Given the description of an element on the screen output the (x, y) to click on. 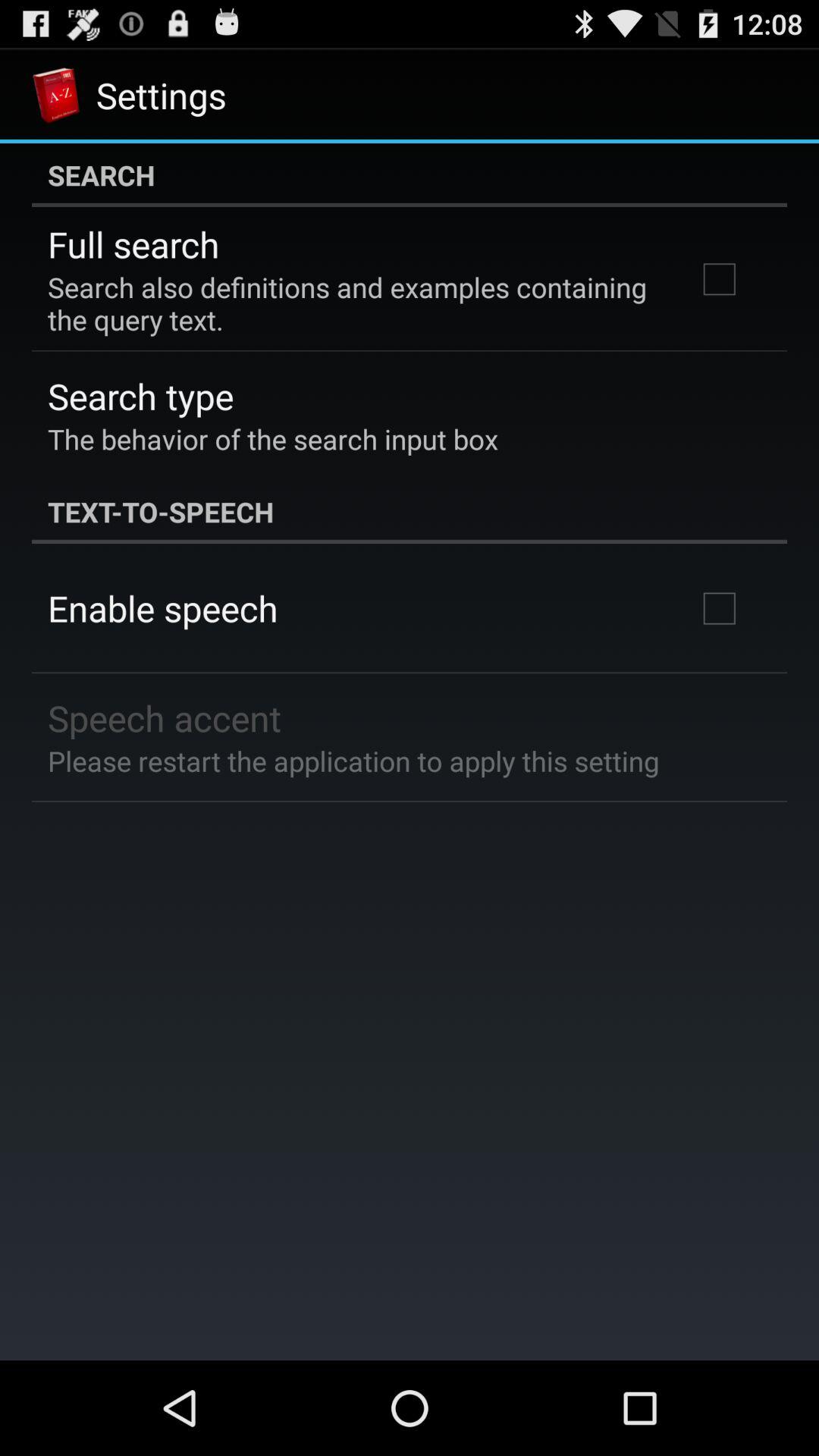
select item above search type app (351, 303)
